Given the description of an element on the screen output the (x, y) to click on. 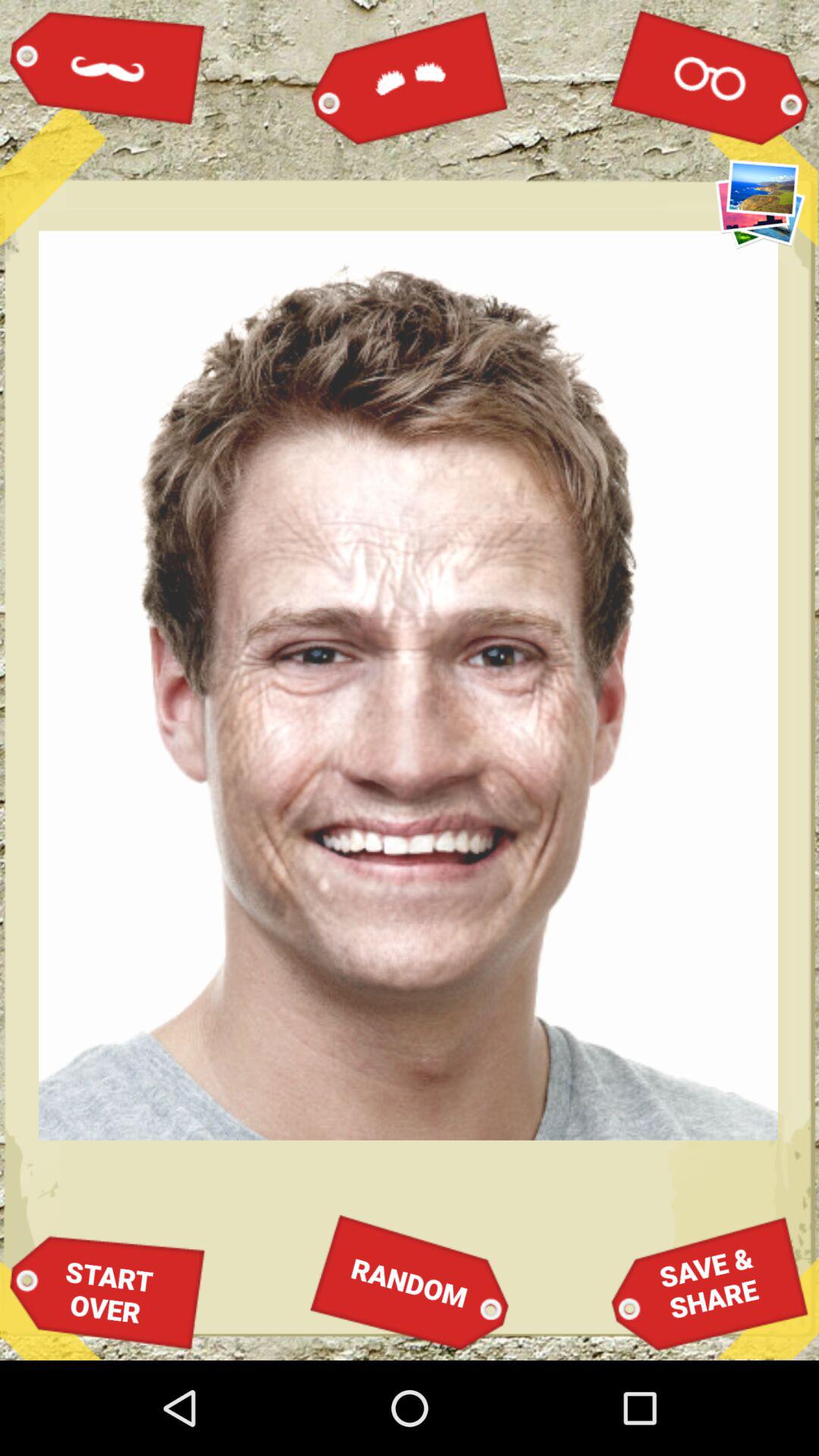
turn off item above the start
over (107, 67)
